Given the description of an element on the screen output the (x, y) to click on. 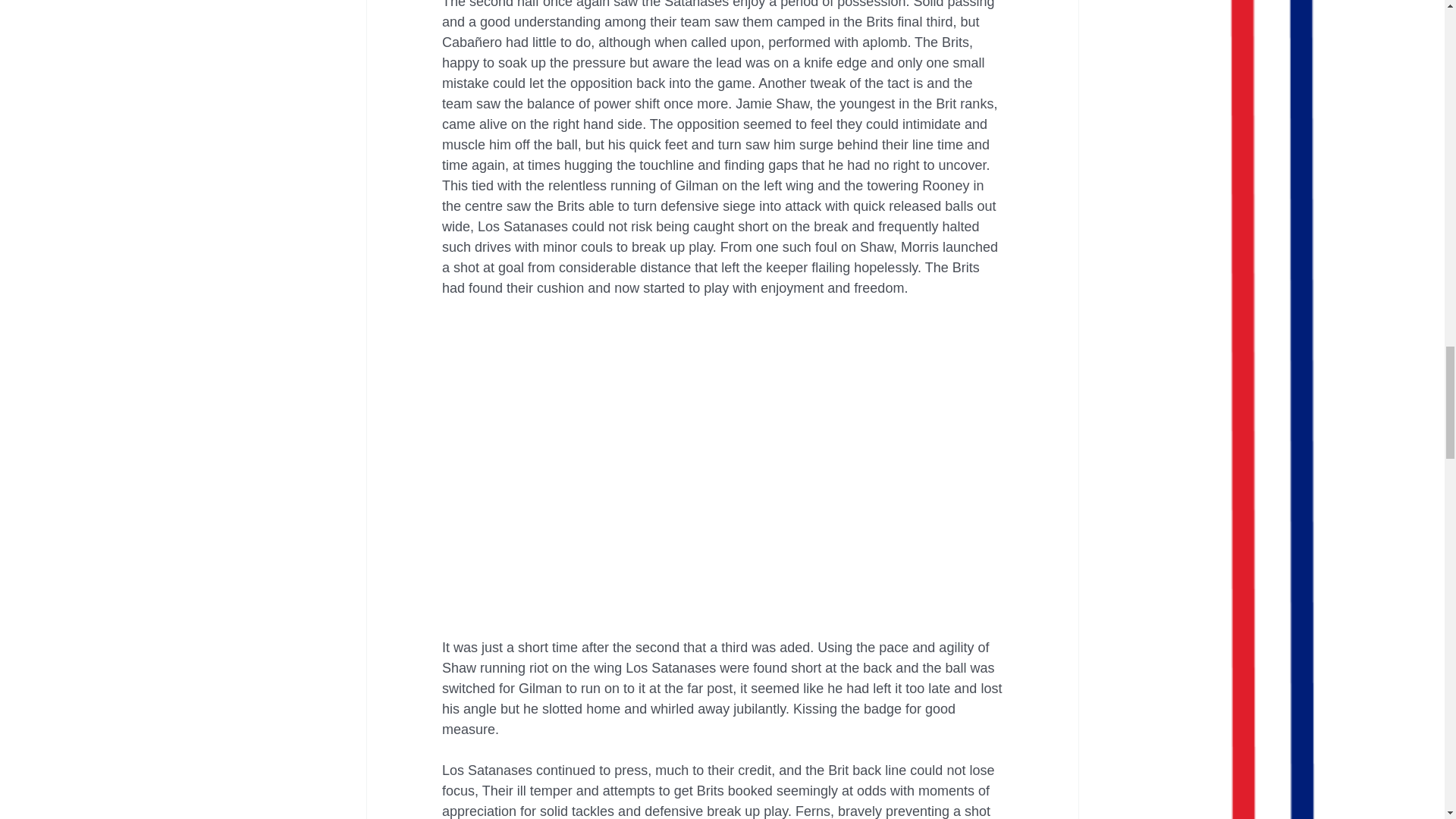
ricos-video (722, 357)
